Given the description of an element on the screen output the (x, y) to click on. 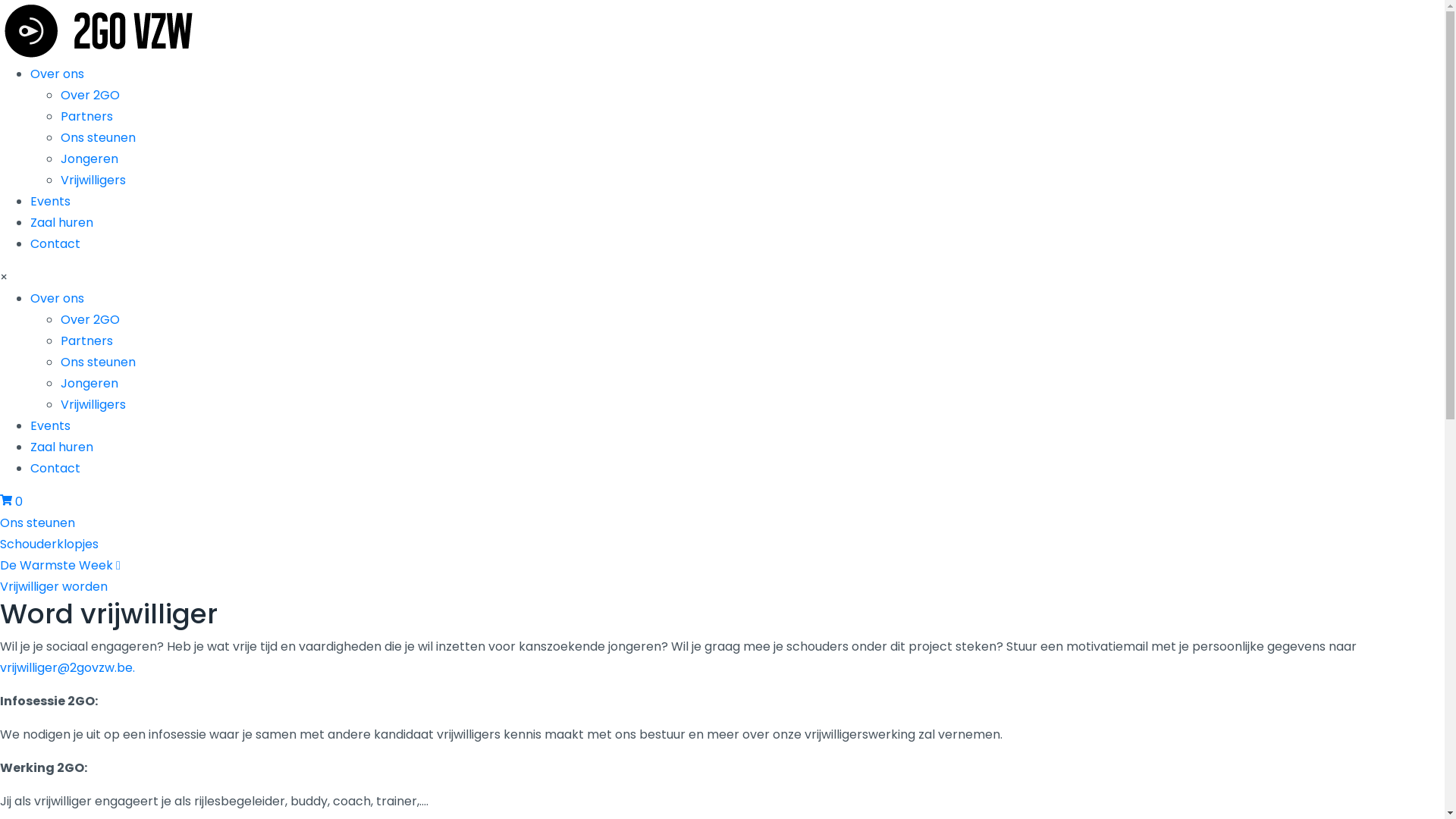
Vrijwilliger worden Element type: text (53, 586)
Over ons Element type: text (57, 73)
Events Element type: text (50, 425)
Zaal huren Element type: text (61, 222)
Ons steunen Element type: text (37, 522)
Partners Element type: text (86, 116)
Ons steunen Element type: text (97, 137)
Contact Element type: text (55, 243)
Contact Element type: text (55, 467)
Over ons Element type: text (57, 298)
Vrijwilligers Element type: text (92, 179)
vrijwilliger@2govzw.be. Element type: text (67, 667)
Over 2GO Element type: text (89, 94)
Ons steunen Element type: text (97, 361)
Zaal huren Element type: text (61, 446)
Vrijwilligers Element type: text (92, 404)
Schouderklopjes Element type: text (49, 543)
Over 2GO Element type: text (89, 319)
Partners Element type: text (86, 340)
Jongeren Element type: text (89, 158)
Jongeren Element type: text (89, 383)
0 Element type: text (11, 501)
Events Element type: text (50, 201)
